Given the description of an element on the screen output the (x, y) to click on. 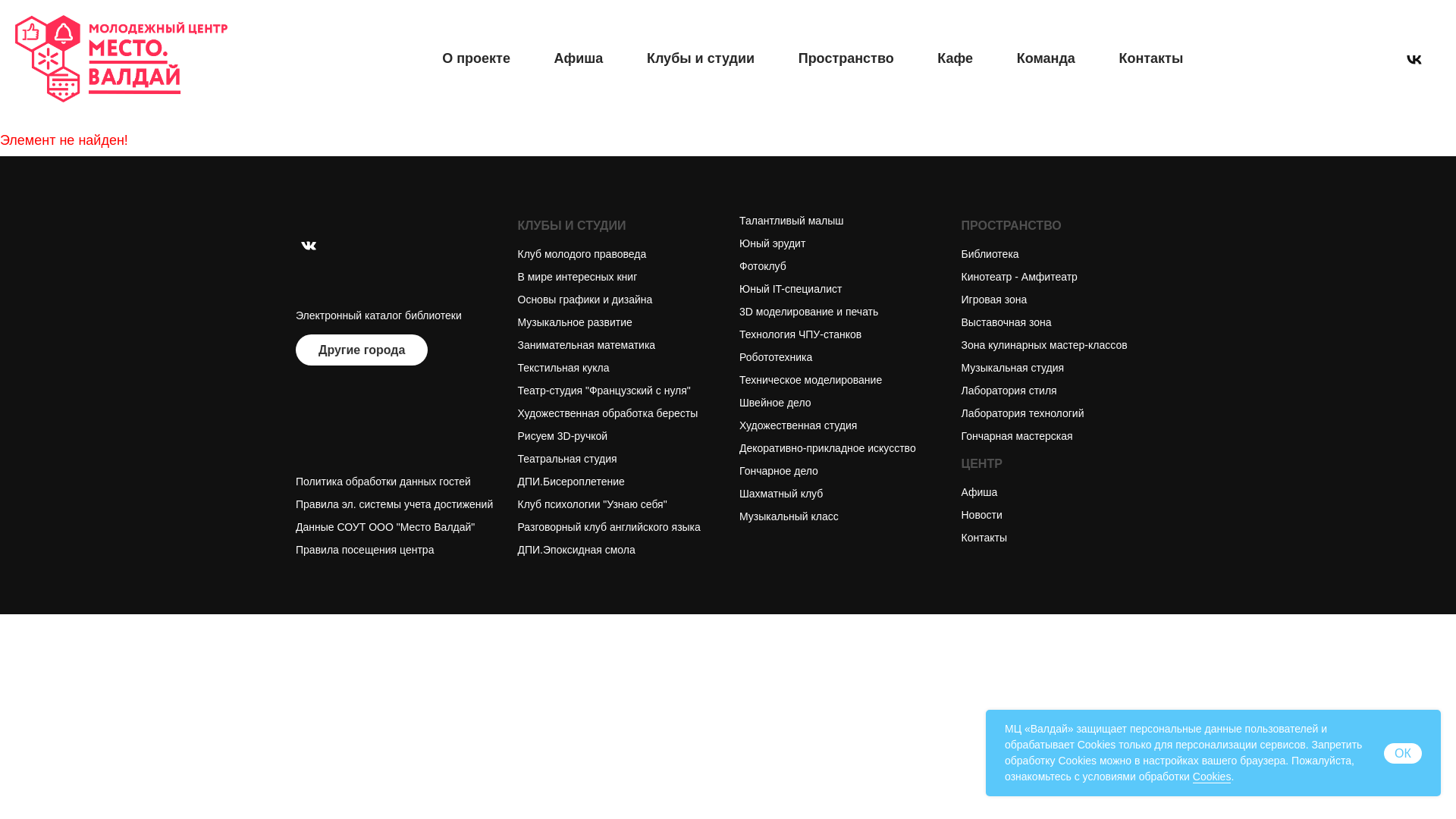
Cookies Element type: text (1211, 776)
